Given the description of an element on the screen output the (x, y) to click on. 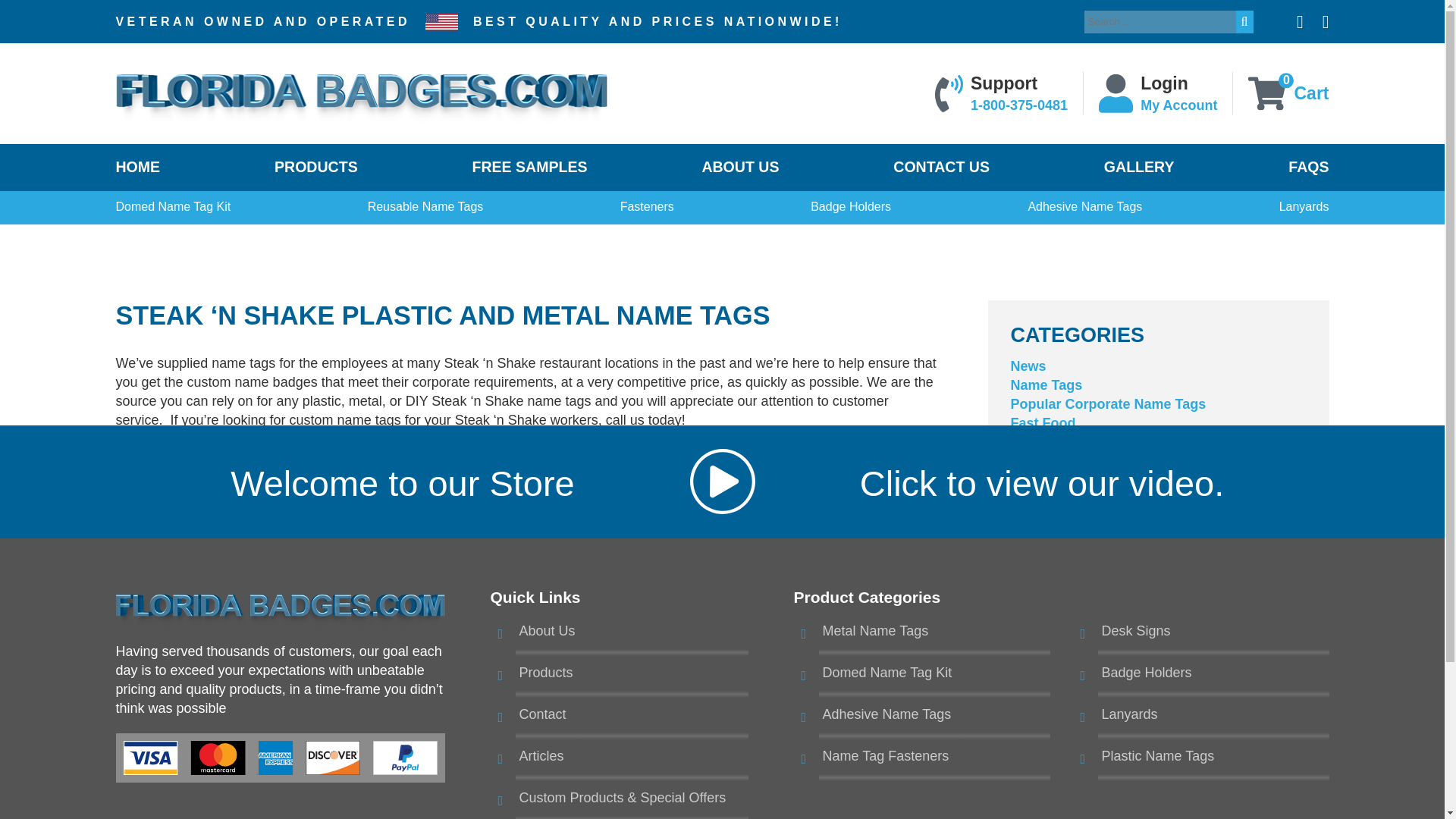
ABOUT US (739, 167)
PRODUCTS (316, 167)
Cart (1310, 92)
Badge Holders (850, 207)
Call 1-800-375-0481 (1019, 105)
HOME (137, 167)
Reusable Name Tags (425, 207)
My Account (1178, 105)
1-800-375-0481 (1019, 105)
CONTACT US (941, 167)
